Given the description of an element on the screen output the (x, y) to click on. 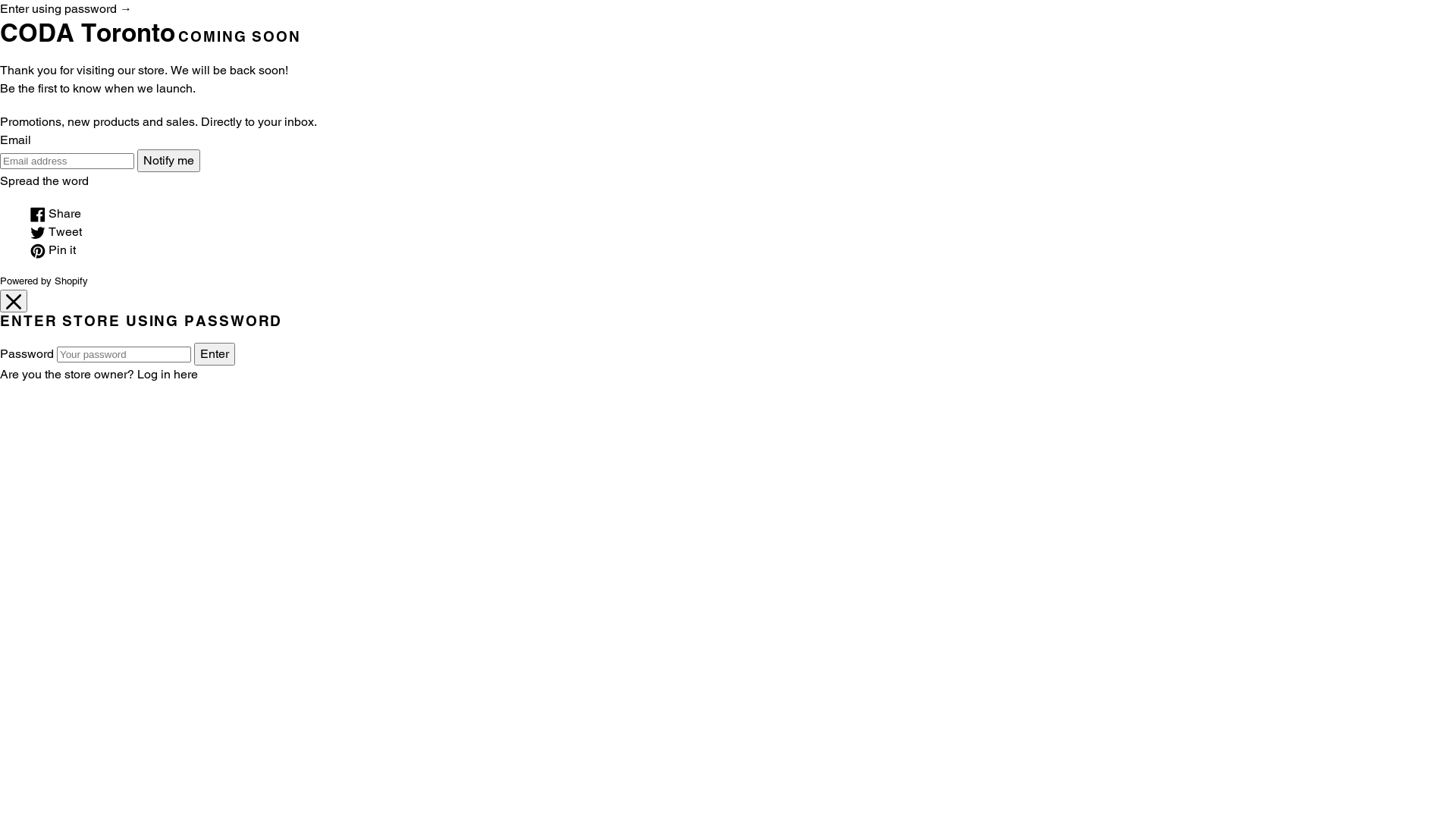
Share
Share on Facebook Element type: text (55, 213)
Pin it
Pin on Pinterest Element type: text (52, 249)
Powered by Shopify Element type: text (43, 280)
Enter Element type: text (214, 353)
"Close" Element type: text (13, 300)
Tweet
Tweet on Twitter Element type: text (55, 231)
Log in here Element type: text (167, 374)
Notify me Element type: text (168, 160)
